Given the description of an element on the screen output the (x, y) to click on. 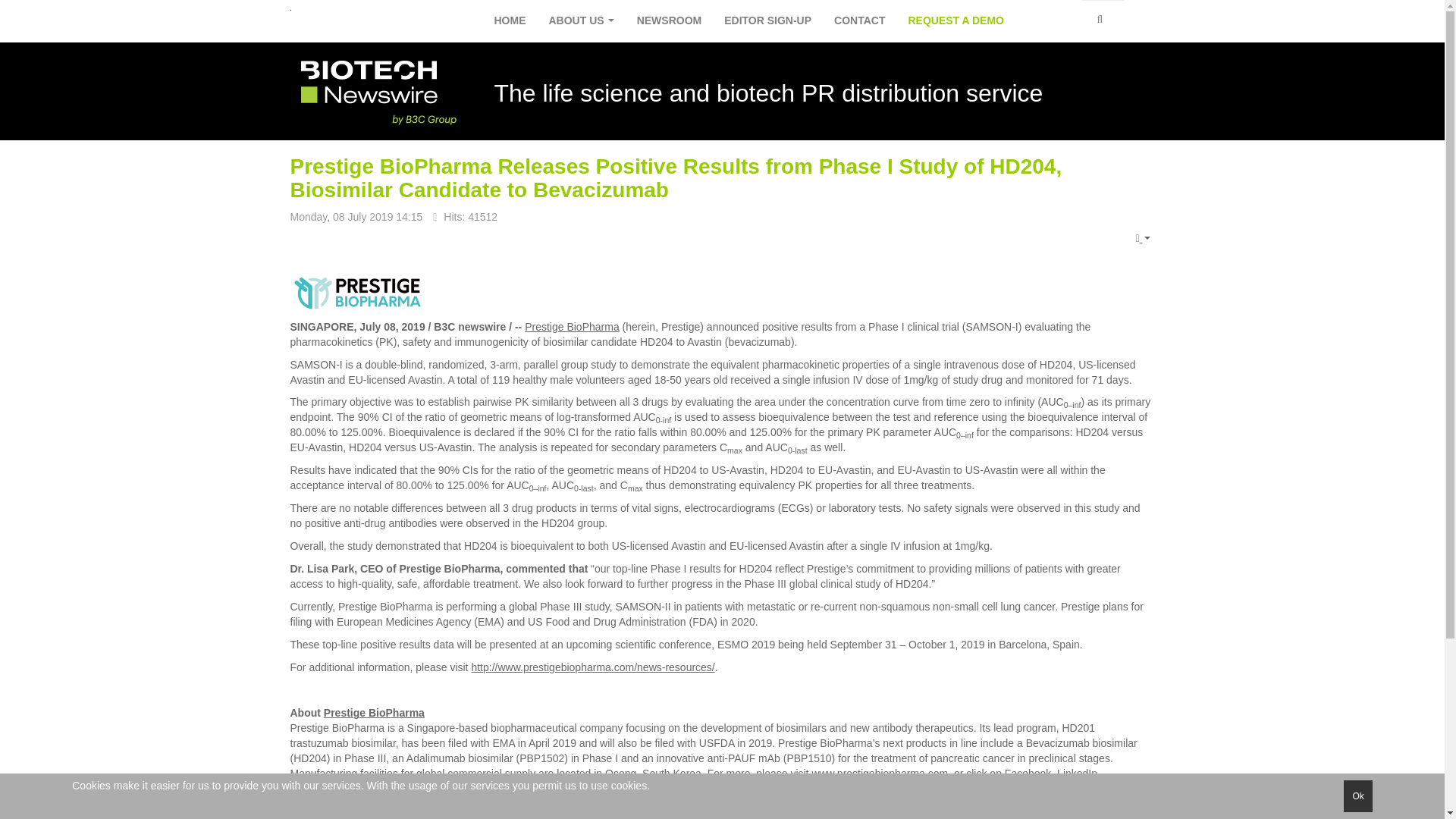
LinkedIn (1077, 773)
www.prestigebiopharma.com (878, 773)
Prestige BioPharma (572, 326)
Facebook (1027, 773)
EDITOR SIGN-UP (766, 20)
NEWSROOM (669, 20)
Empty (1142, 238)
REQUEST A DEMO (955, 20)
Prestige BioPharma (374, 712)
ABOUT US (581, 20)
CONTACT (859, 20)
HOME (510, 20)
